Given the description of an element on the screen output the (x, y) to click on. 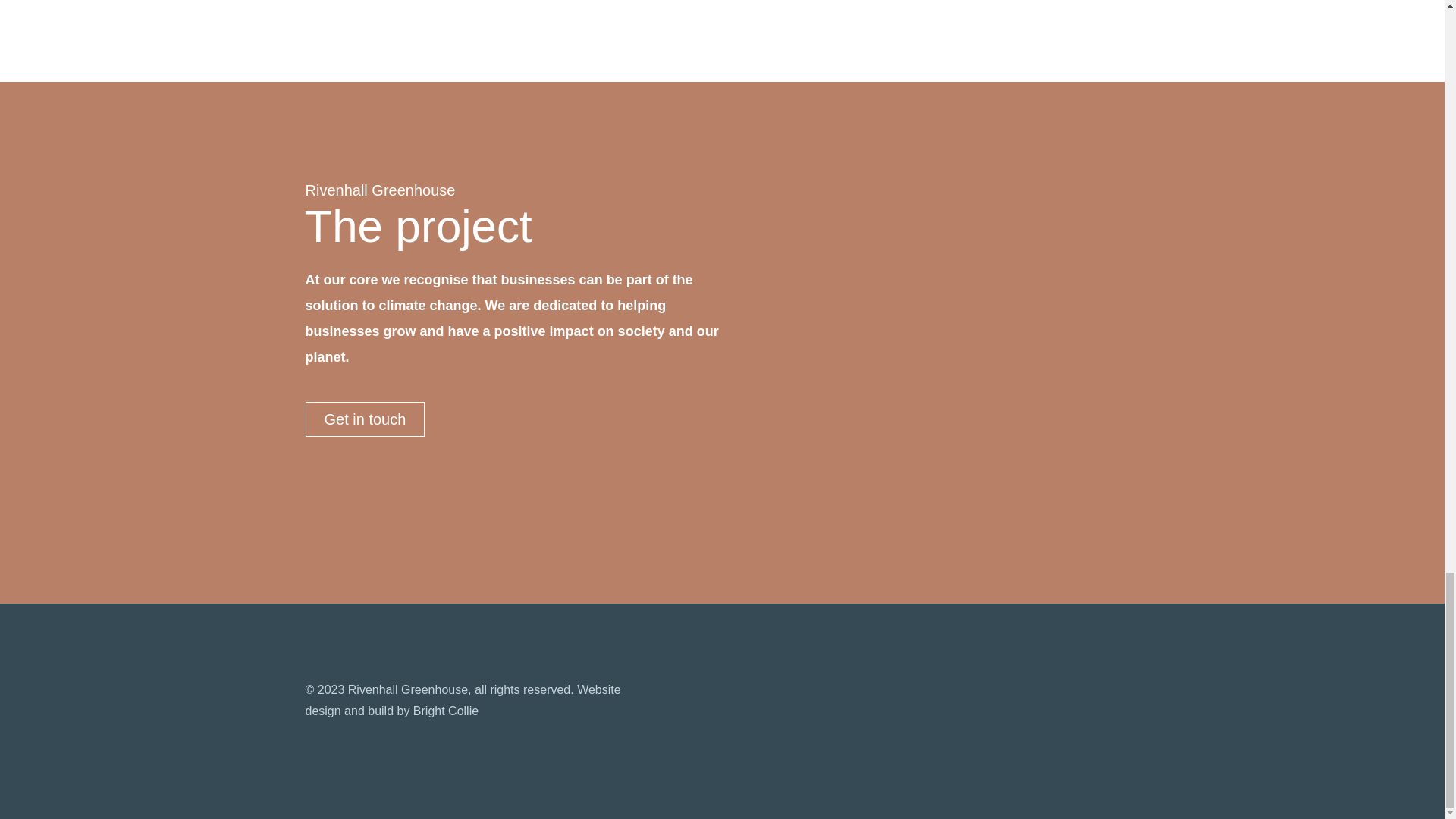
Get in touch (364, 419)
